Given the description of an element on the screen output the (x, y) to click on. 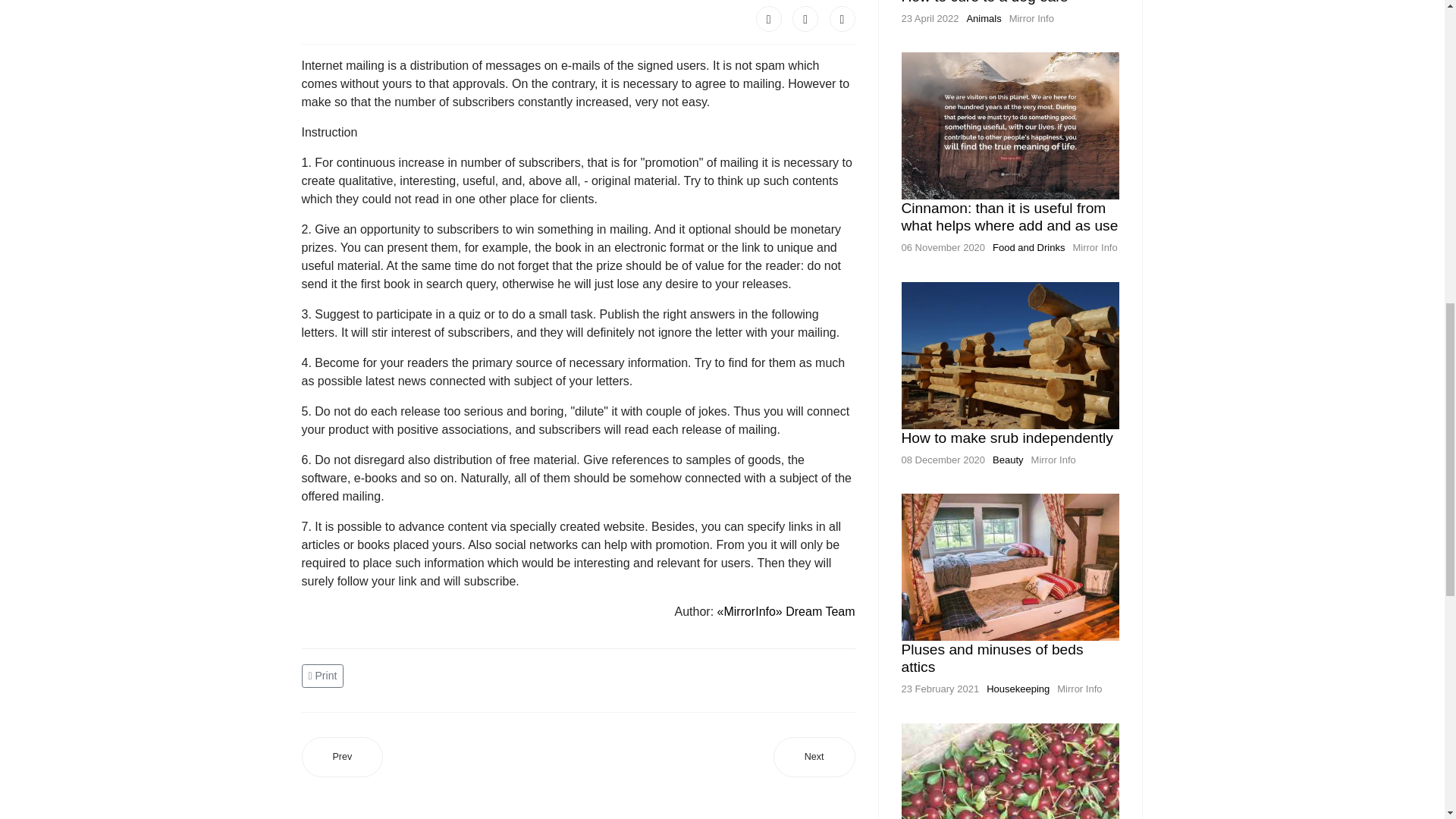
LinkedIn (842, 18)
Beauty (1007, 460)
Next (814, 757)
Prev (342, 757)
How to make srub independently (1006, 437)
Print (324, 674)
Animals (983, 18)
Food and Drinks (1028, 247)
Facebook (768, 18)
